Given the description of an element on the screen output the (x, y) to click on. 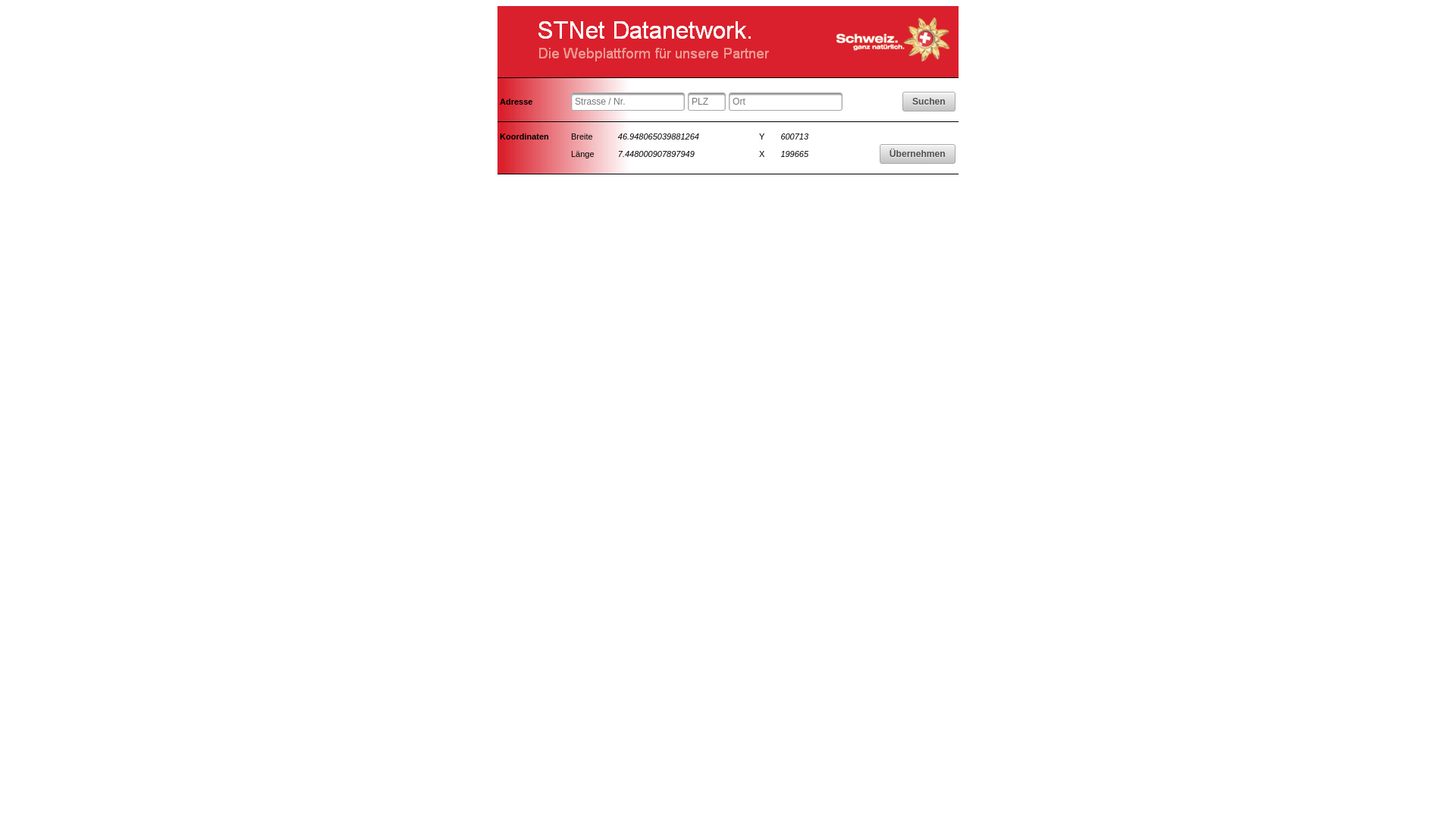
Suchen Element type: text (928, 101)
